Given the description of an element on the screen output the (x, y) to click on. 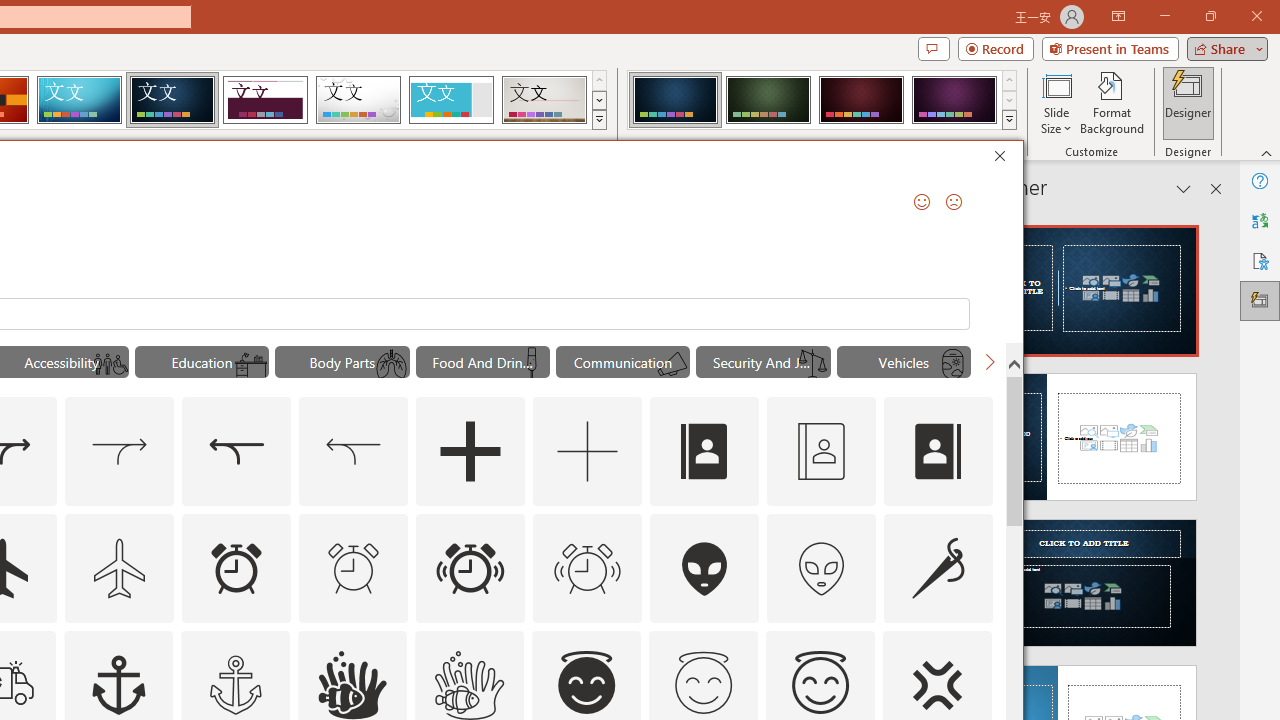
AutomationID: Icons_AlienFace_M (821, 568)
AutomationID: Icons_WeightsUneven1_M (812, 364)
AutomationID: Icons_PlaneWindow_M (952, 364)
AutomationID: Icons_AddressBook_RTL (938, 452)
AutomationID: Icons_Acquisition_RTL_M (353, 452)
AutomationID: _134_Angel_Face_A (586, 682)
AutomationID: Icons_Desk_M (250, 364)
